Given the description of an element on the screen output the (x, y) to click on. 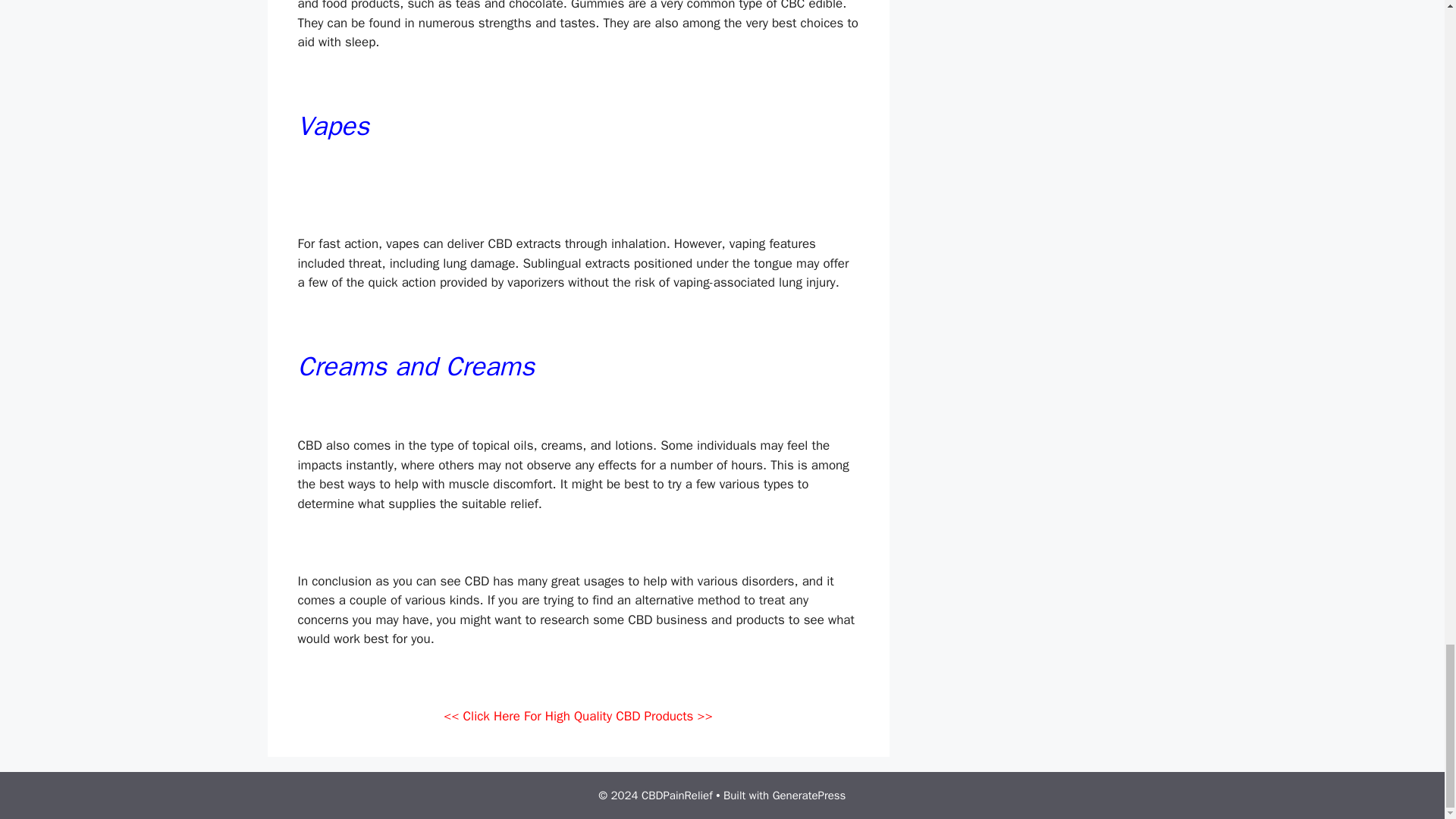
GeneratePress (809, 795)
